Given the description of an element on the screen output the (x, y) to click on. 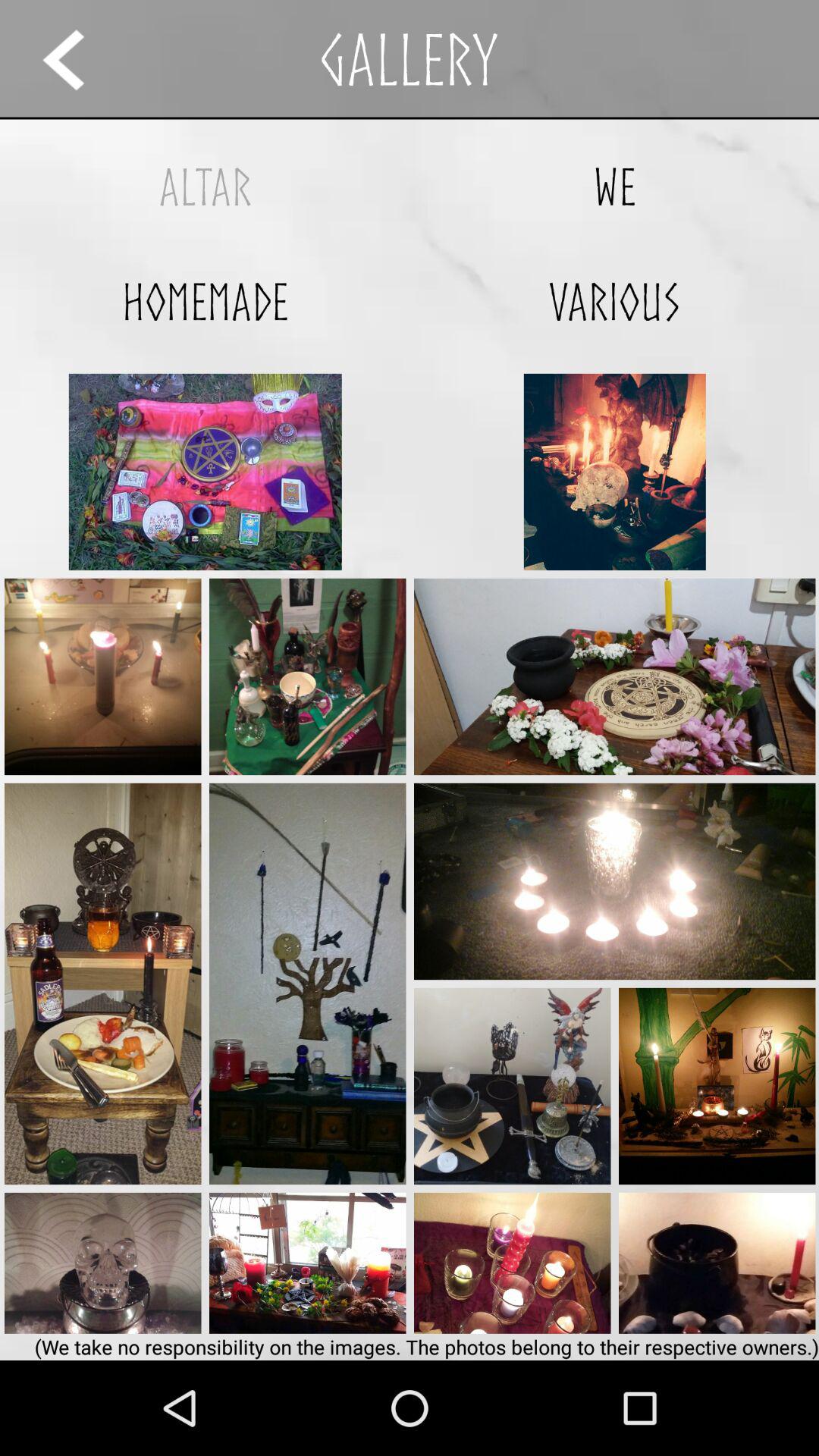
go to previous (77, 59)
